Given the description of an element on the screen output the (x, y) to click on. 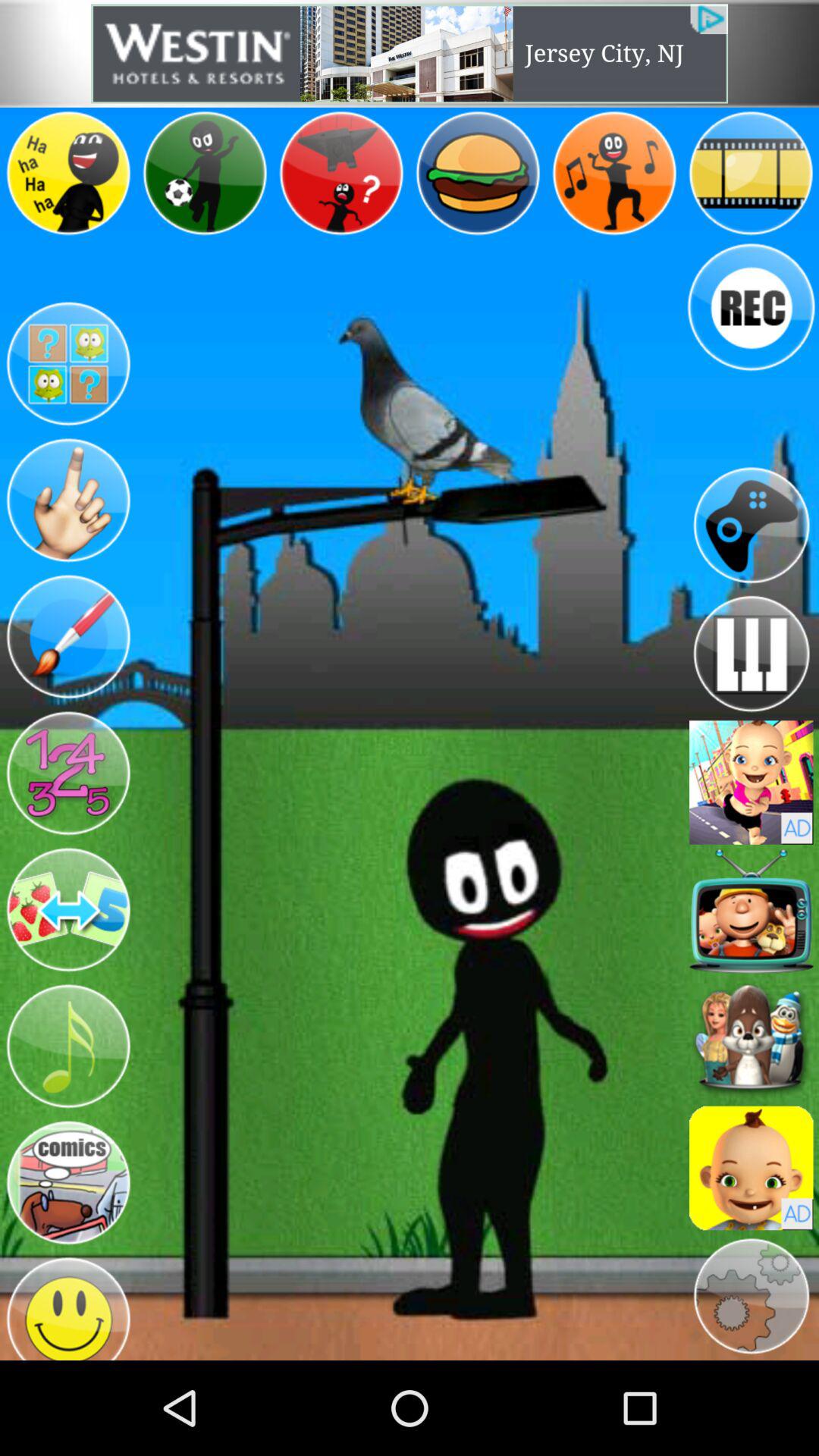
game (751, 782)
